Given the description of an element on the screen output the (x, y) to click on. 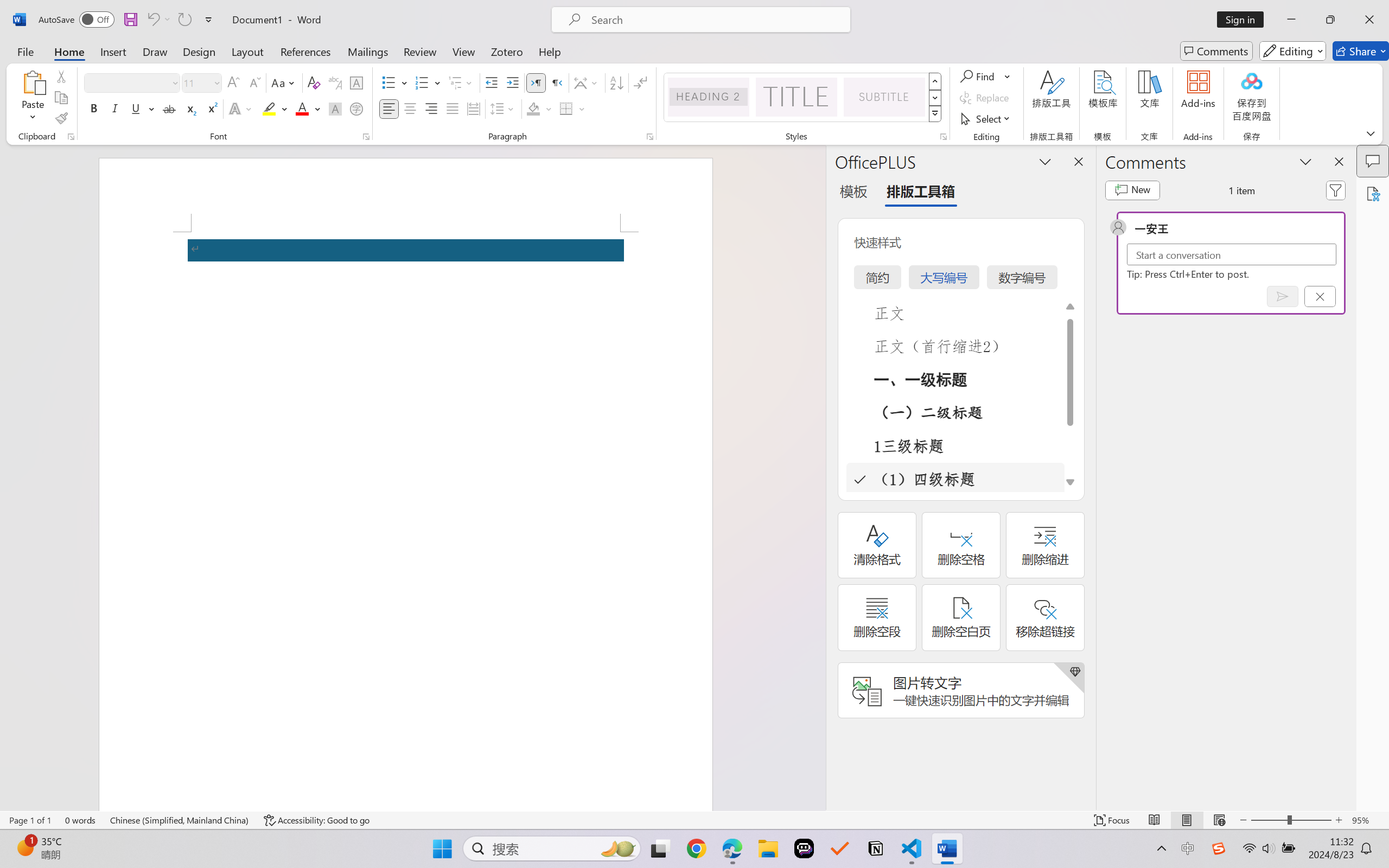
New comment (1132, 190)
